Given the description of an element on the screen output the (x, y) to click on. 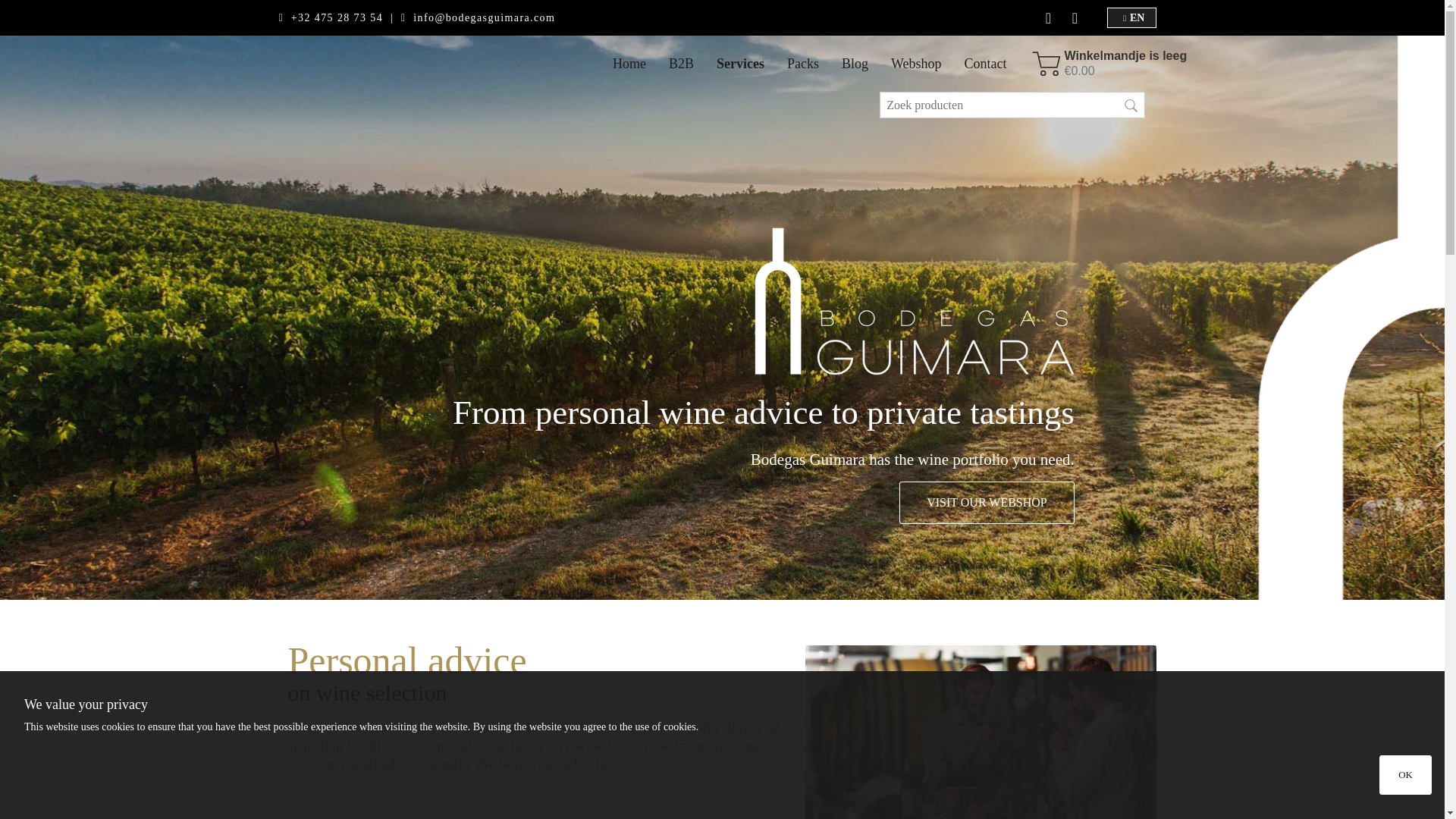
Contact (985, 63)
Packs (802, 63)
B2B (681, 63)
Services (740, 63)
VISIT OUR WEBSHOP (986, 502)
EN (1133, 17)
Home (629, 63)
OK (1404, 774)
Blog (854, 63)
Webshop (916, 63)
